Given the description of an element on the screen output the (x, y) to click on. 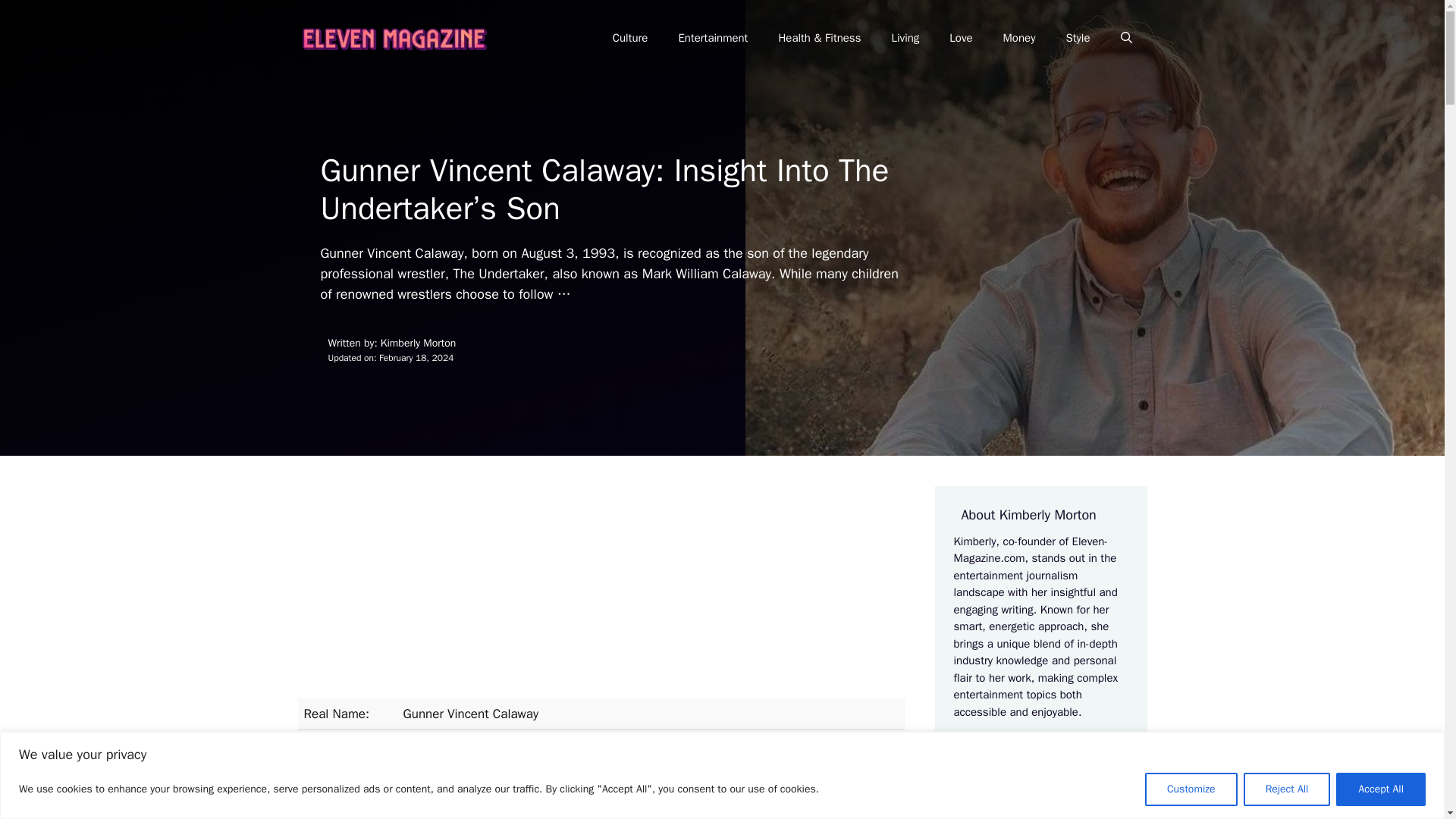
Culture (629, 37)
Accept All (1380, 788)
Style (1077, 37)
Money (1019, 37)
Advertisement (600, 592)
Entertainment (712, 37)
Love (960, 37)
Living (905, 37)
Reject All (1286, 788)
Customize (1190, 788)
